Given the description of an element on the screen output the (x, y) to click on. 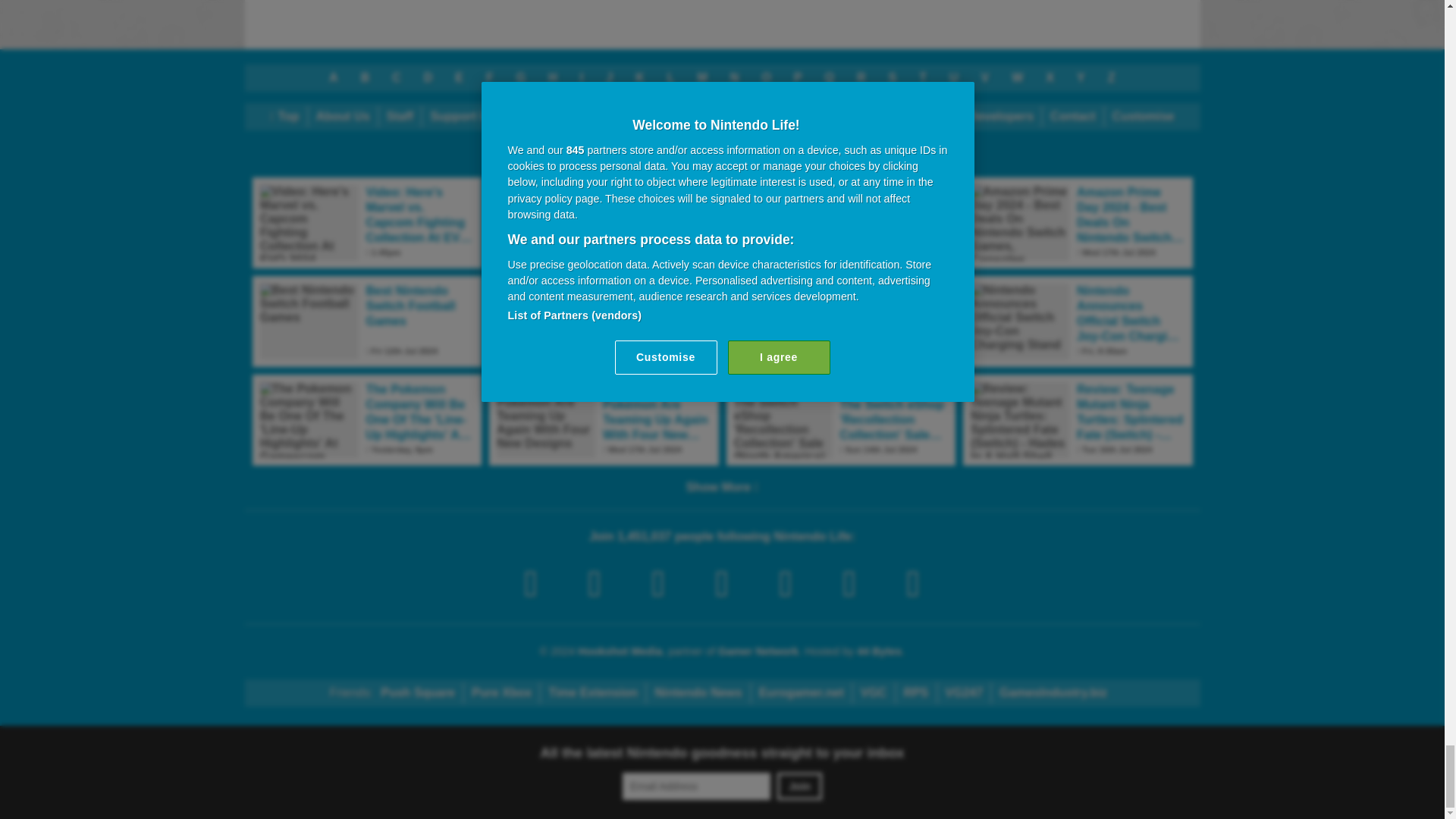
Join (799, 786)
